Given the description of an element on the screen output the (x, y) to click on. 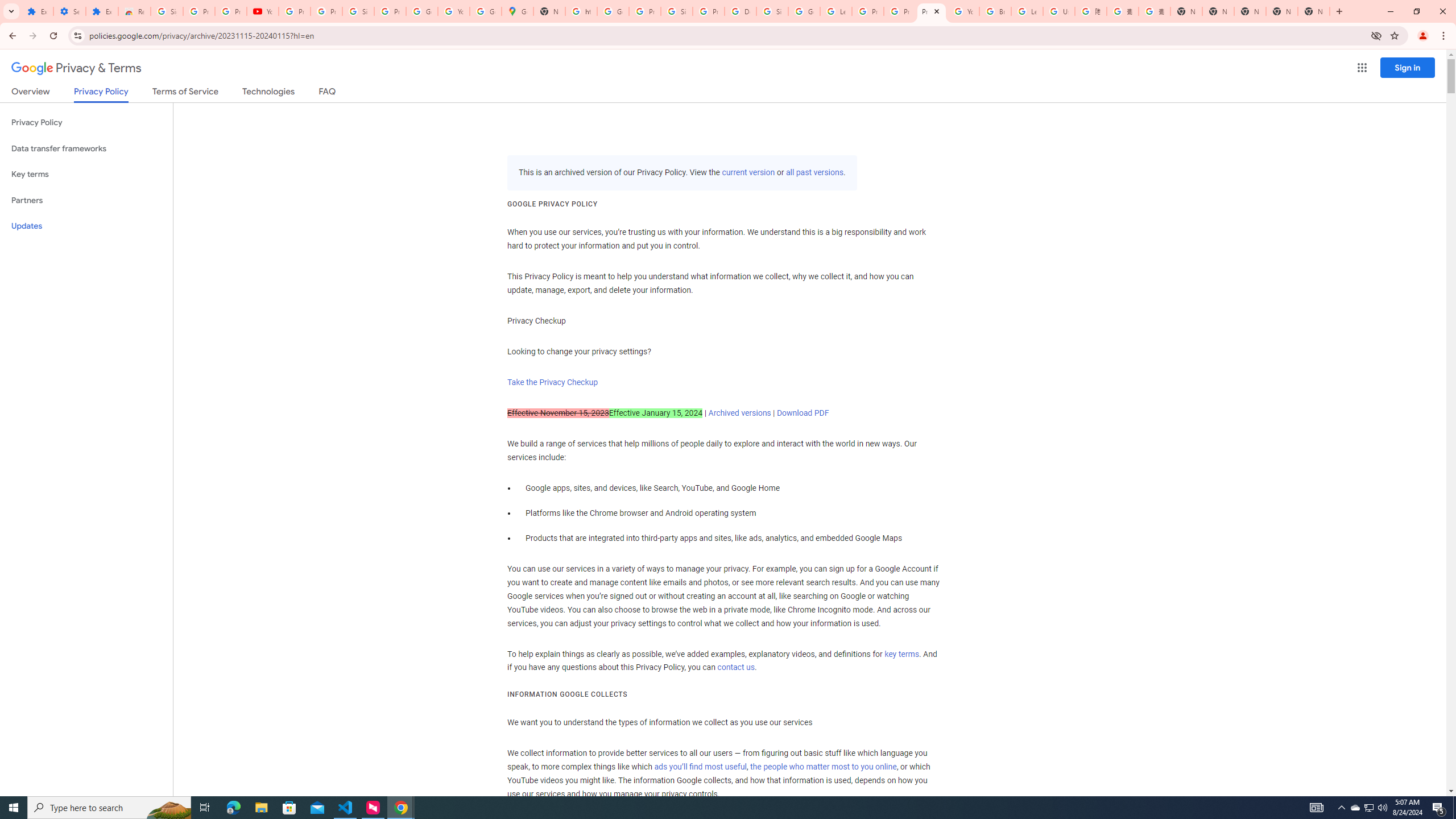
all past versions (813, 172)
Take the Privacy Checkup (552, 381)
Privacy Help Center - Policies Help (868, 11)
Sign in - Google Accounts (772, 11)
Privacy Help Center - Policies Help (899, 11)
YouTube (963, 11)
